Given the description of an element on the screen output the (x, y) to click on. 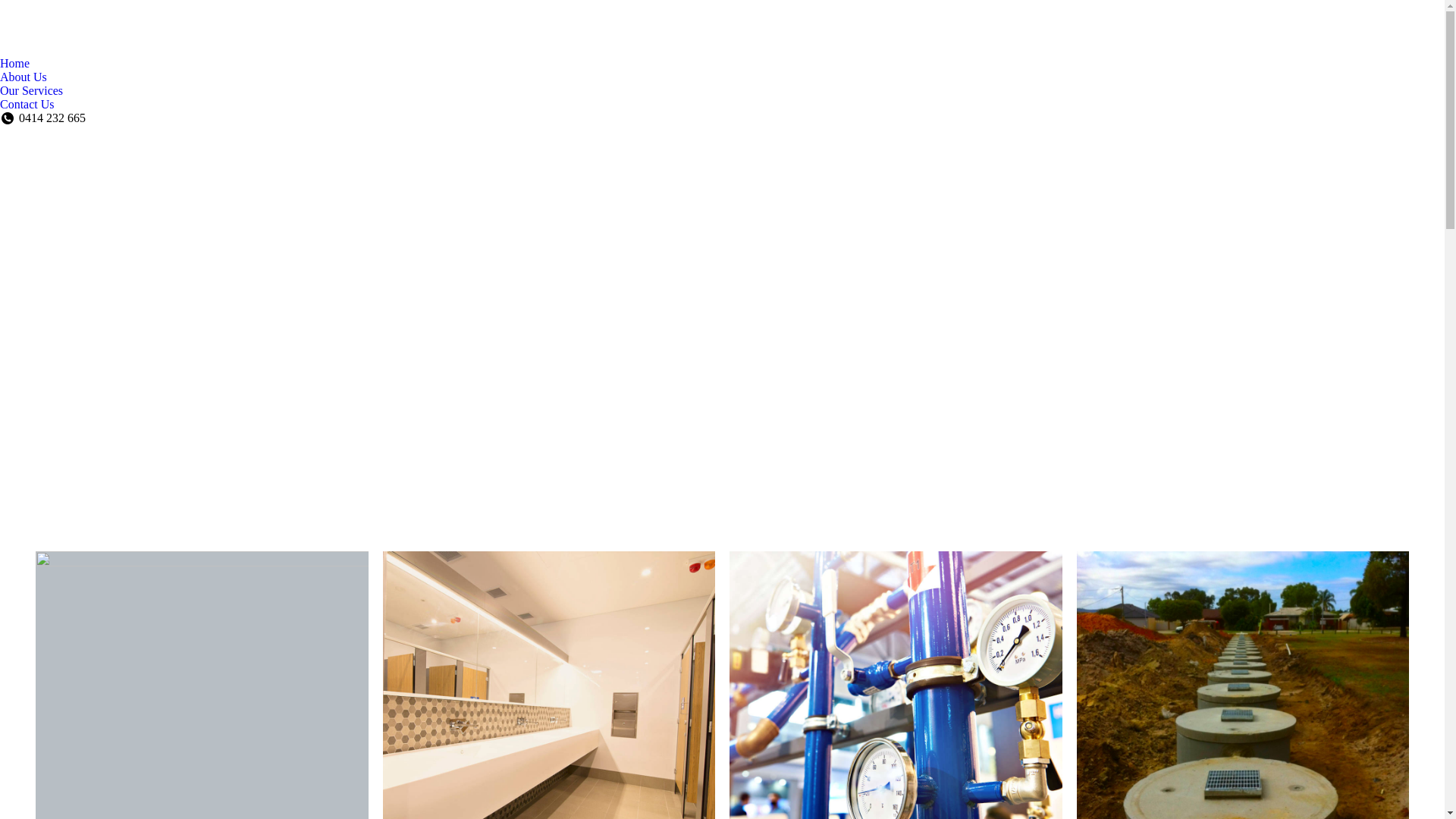
Our Services Element type: text (31, 90)
Contact Us Element type: text (27, 104)
Home Element type: text (14, 63)
About Us Element type: text (23, 77)
